Given the description of an element on the screen output the (x, y) to click on. 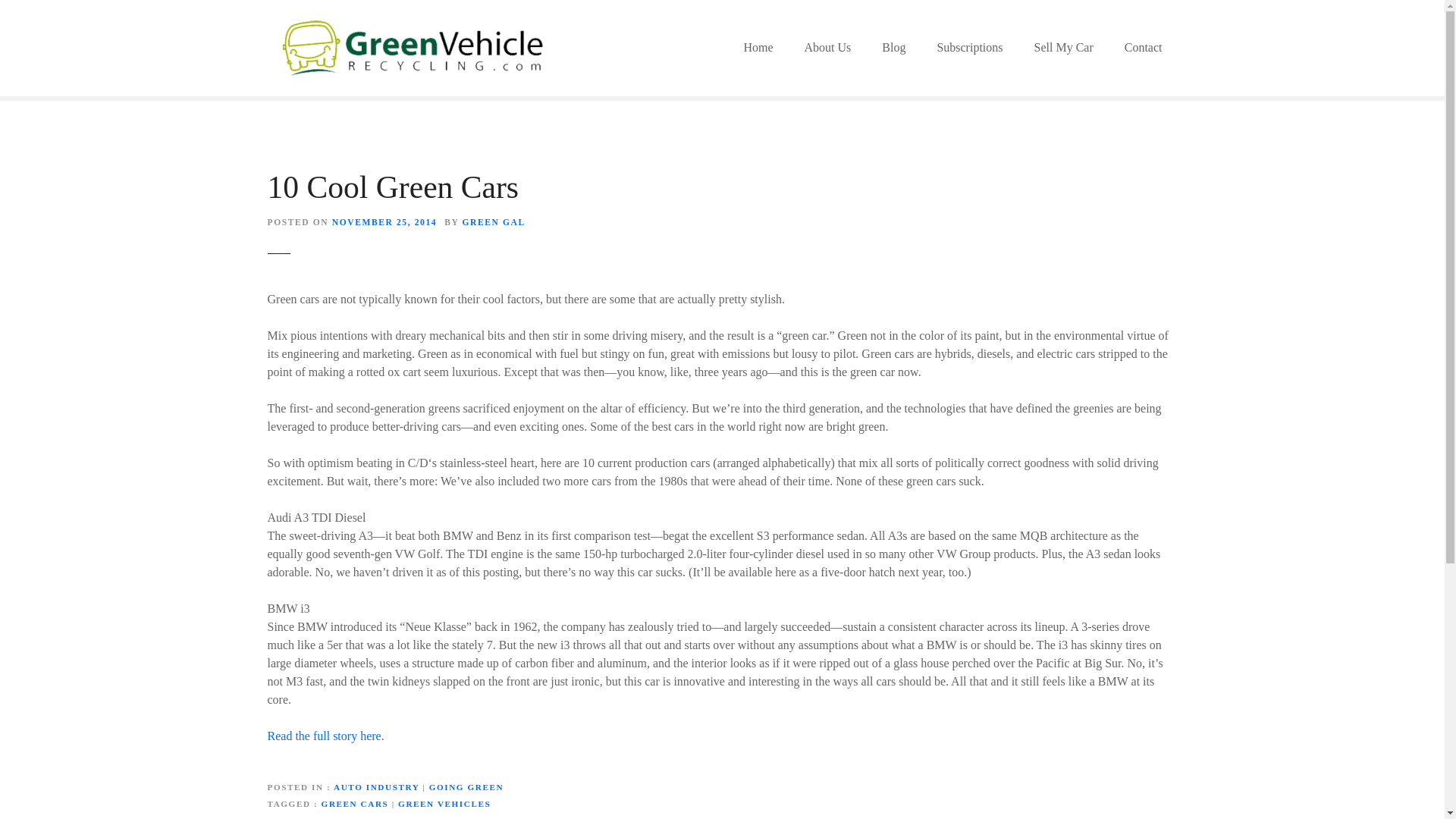
Sell My Car (1063, 47)
Subscriptions (969, 47)
GOING GREEN (466, 786)
GREEN VEHICLES (443, 803)
AUTO INDUSTRY (376, 786)
NOVEMBER 25, 2014 (383, 221)
GREEN GAL (492, 221)
Home (757, 47)
Contact (1143, 47)
GREEN CARS (354, 803)
Read the full story here. (325, 735)
Blog (893, 47)
About Us (827, 47)
